Given the description of an element on the screen output the (x, y) to click on. 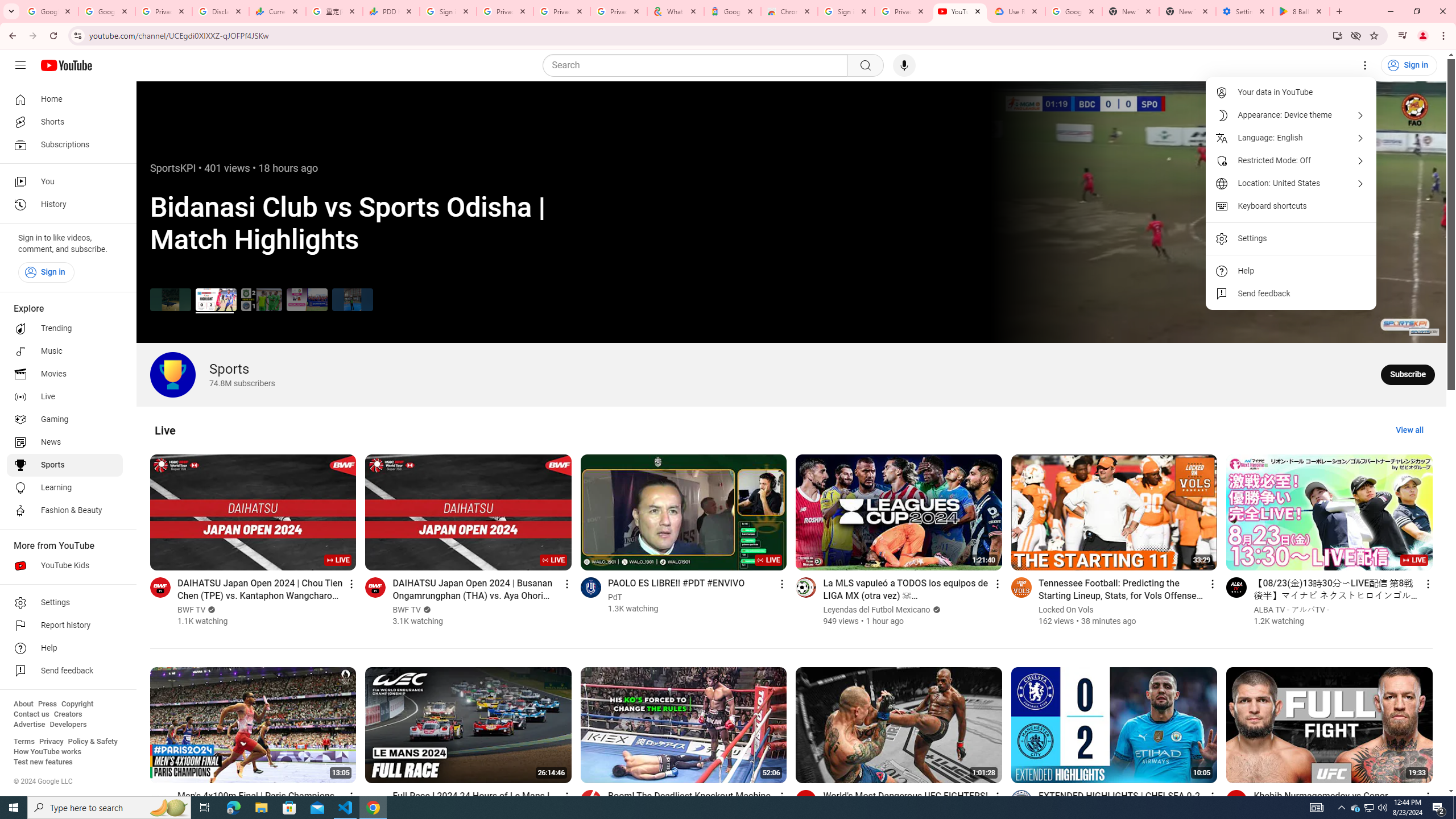
YouTube Kids (64, 565)
Settings - System (1244, 11)
Contact us (31, 714)
Locked On Vols (1066, 609)
Report history (64, 625)
Search (697, 65)
Press (46, 703)
